Given the description of an element on the screen output the (x, y) to click on. 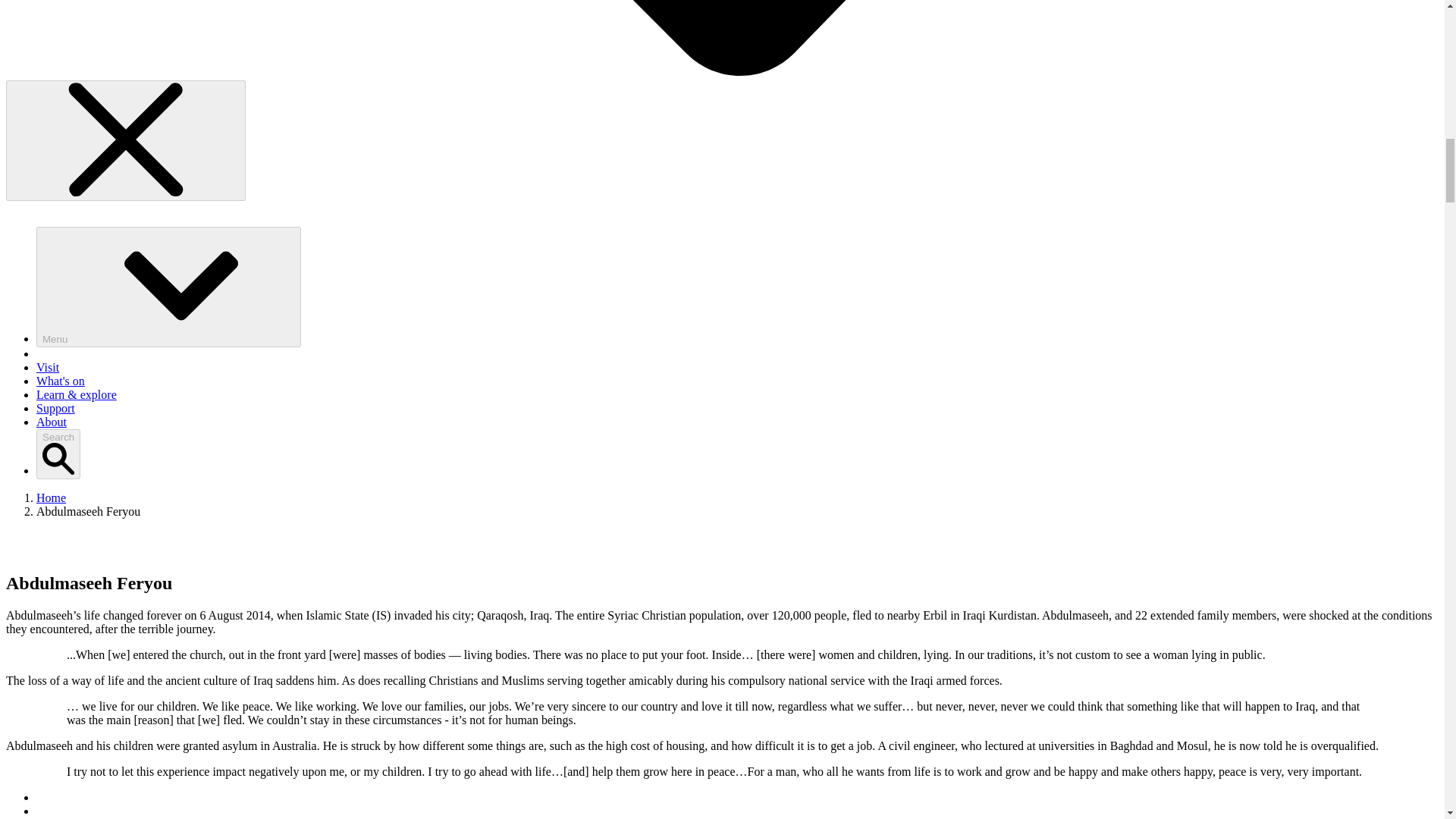
Dismiss alert (125, 139)
Home (50, 497)
Visit (47, 367)
Dismiss alert (125, 140)
Support (55, 408)
About (51, 421)
What's on (60, 380)
